Given the description of an element on the screen output the (x, y) to click on. 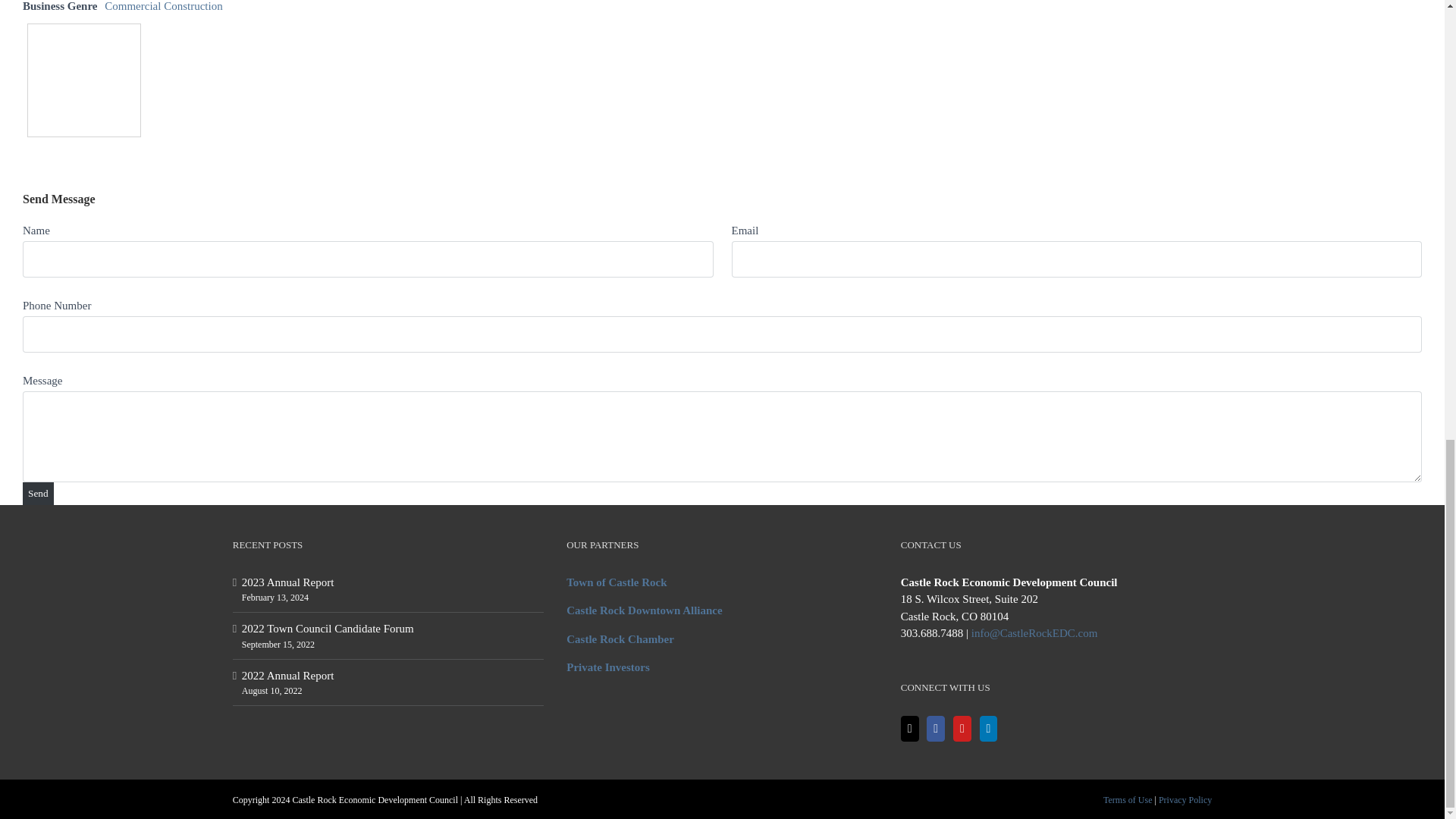
Send (38, 493)
Kahn Construction Corp. (84, 80)
Board of Directors (607, 666)
